Given the description of an element on the screen output the (x, y) to click on. 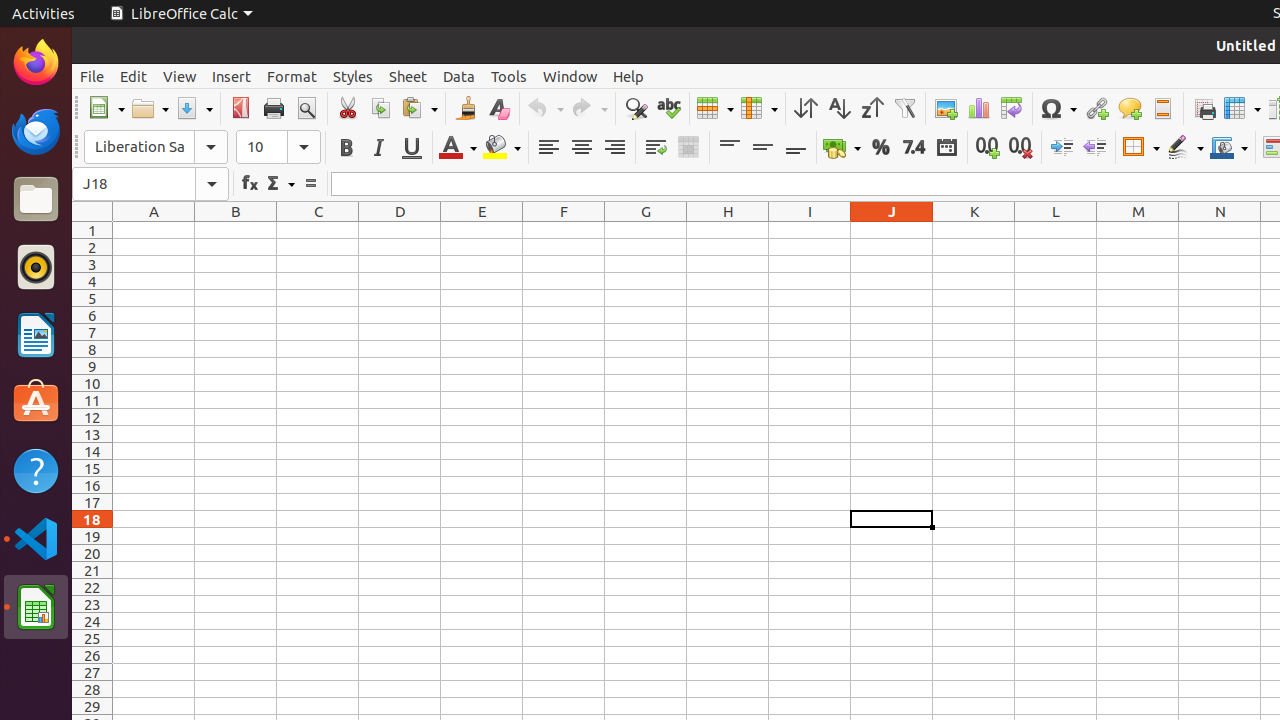
Print Element type: push-button (273, 108)
Tools Element type: menu (509, 76)
Symbol Element type: push-button (1058, 108)
Freeze Rows and Columns Element type: push-button (1242, 108)
Center Vertically Element type: push-button (762, 147)
